Given the description of an element on the screen output the (x, y) to click on. 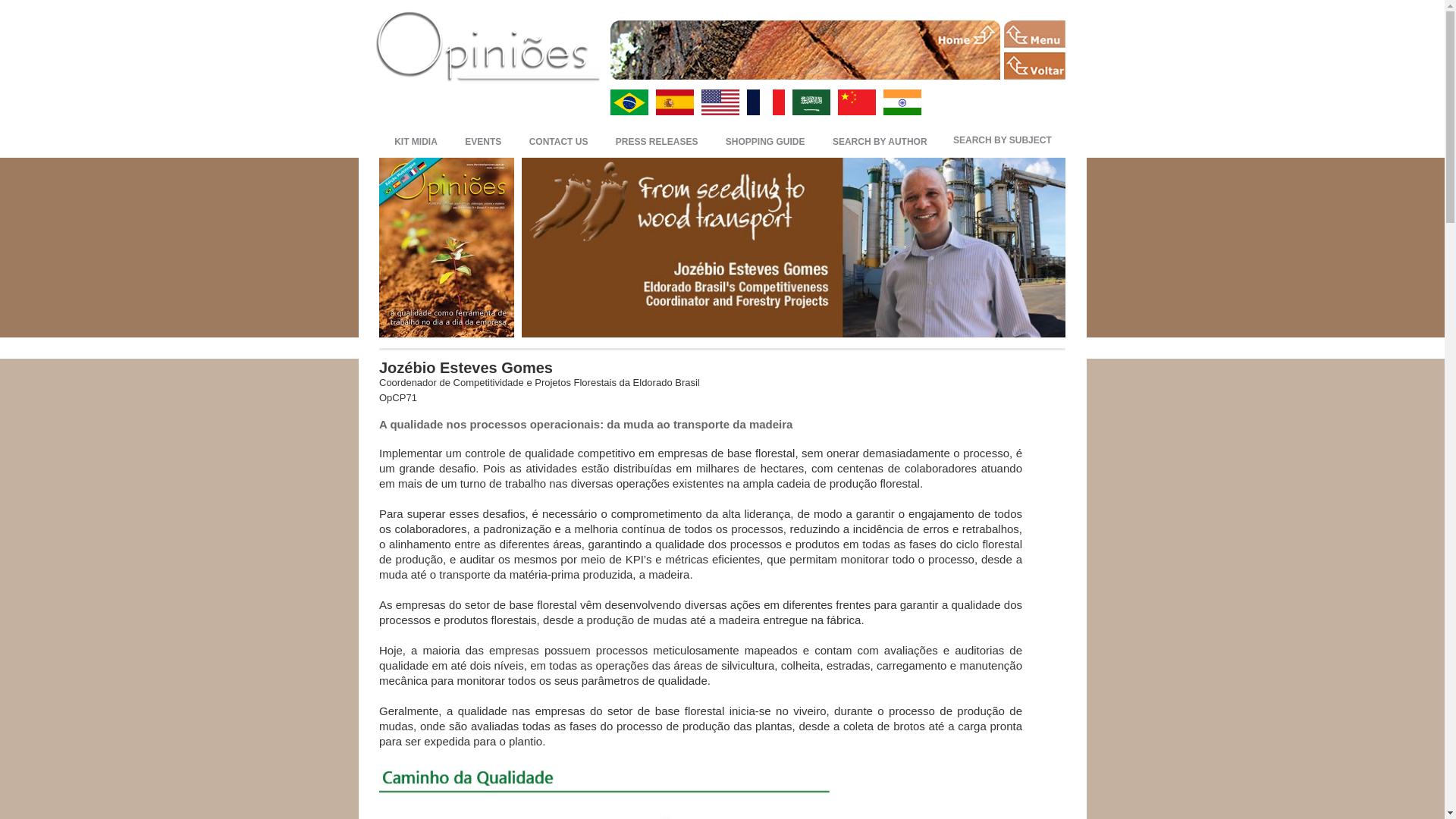
ES (674, 102)
SEARCH BY SUBJECT (1002, 140)
FR (764, 102)
ES (674, 102)
PT-BR (628, 102)
EN (719, 102)
PRESS RELEASES (656, 140)
SHOPPING GUIDE (764, 140)
HI (901, 102)
KIT MIDIA (415, 140)
HI (901, 102)
PT-BR (628, 102)
MENU (1034, 33)
ZH-CN (856, 102)
EVENTS (483, 140)
